Given the description of an element on the screen output the (x, y) to click on. 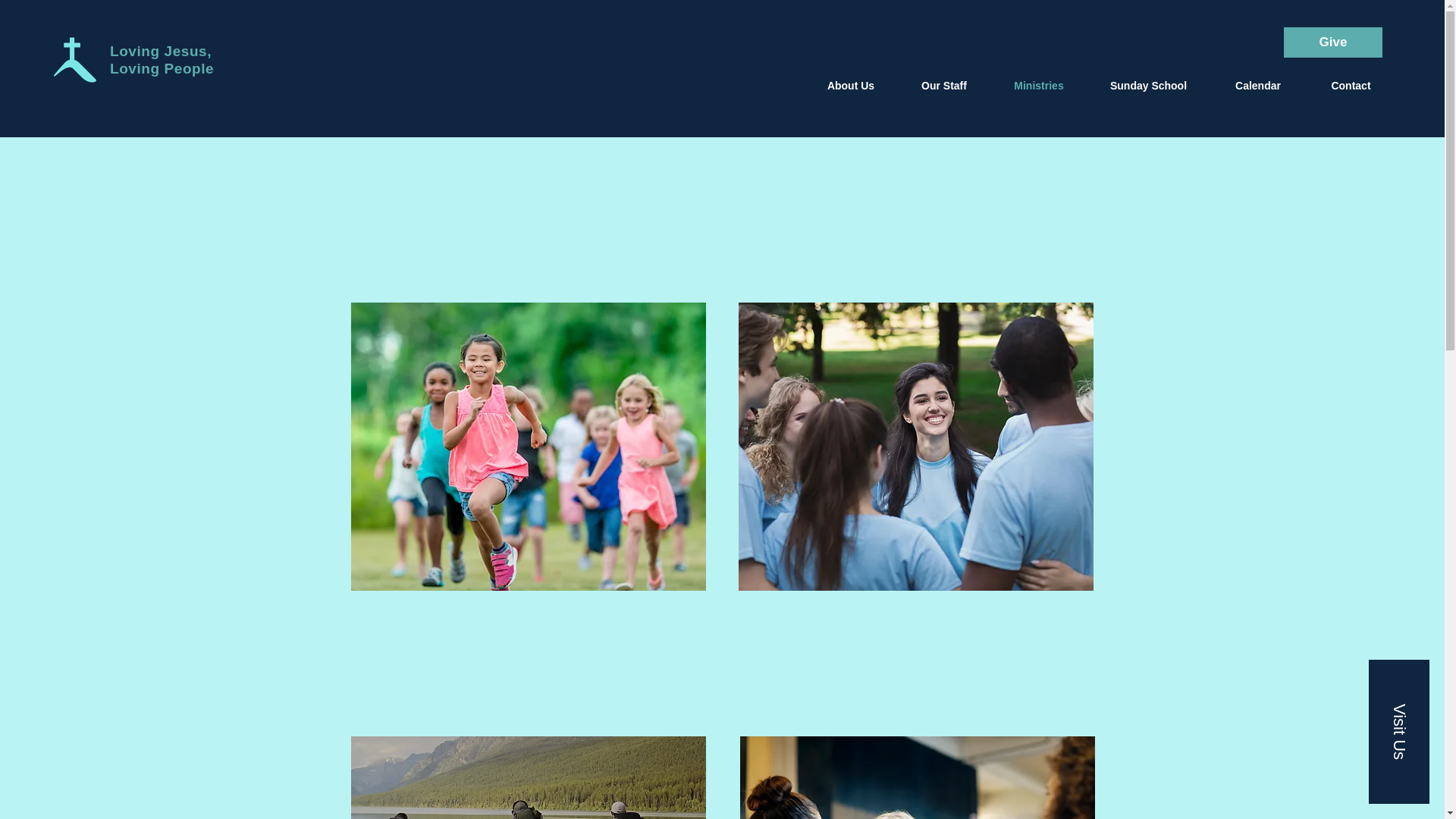
Our Staff (943, 85)
Sunday School (1147, 85)
About Us (850, 85)
Calendar (1257, 85)
Ministries (1038, 85)
Contact (1351, 85)
Loving Jesus, Loving People (162, 59)
Give (1332, 42)
